Given the description of an element on the screen output the (x, y) to click on. 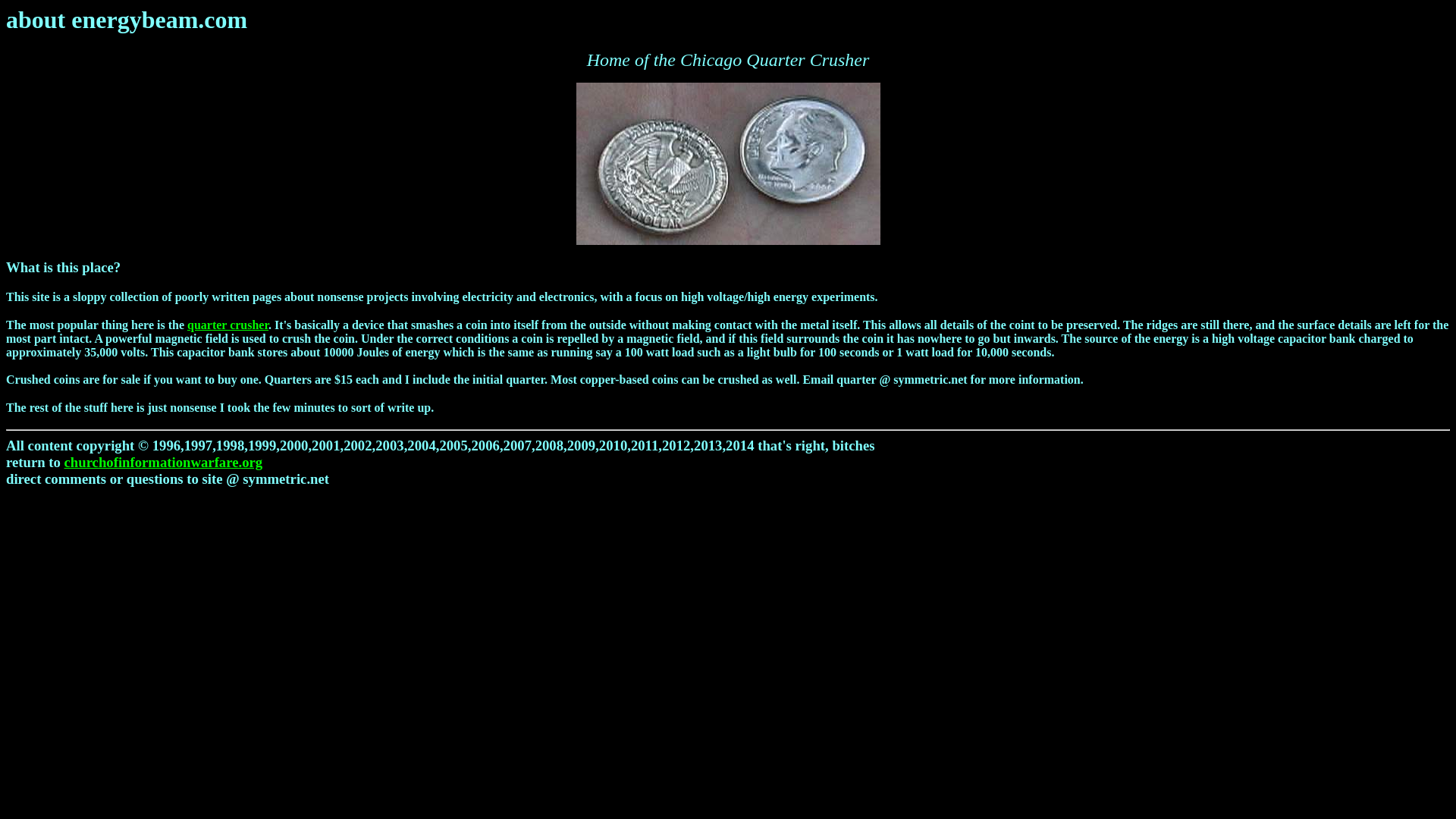
quarter crusher (227, 324)
churchofinformationwarfare.org (163, 462)
